Given the description of an element on the screen output the (x, y) to click on. 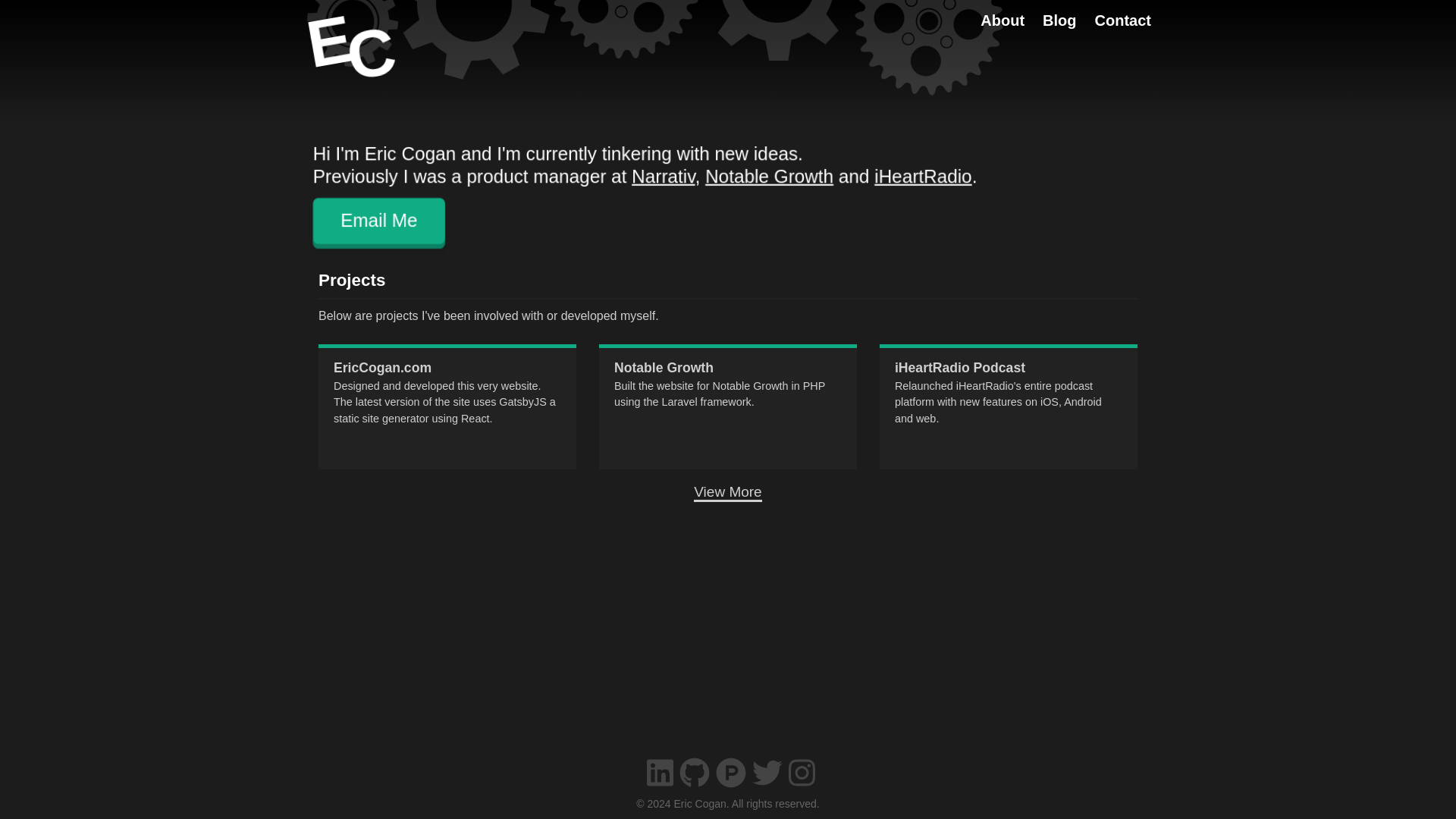
Narrativ (664, 176)
View More (727, 491)
Contact (1122, 20)
Notable Growth (767, 176)
Blog (1058, 20)
Email Me (383, 223)
iHeartRadio (920, 176)
About (1002, 20)
